Given the description of an element on the screen output the (x, y) to click on. 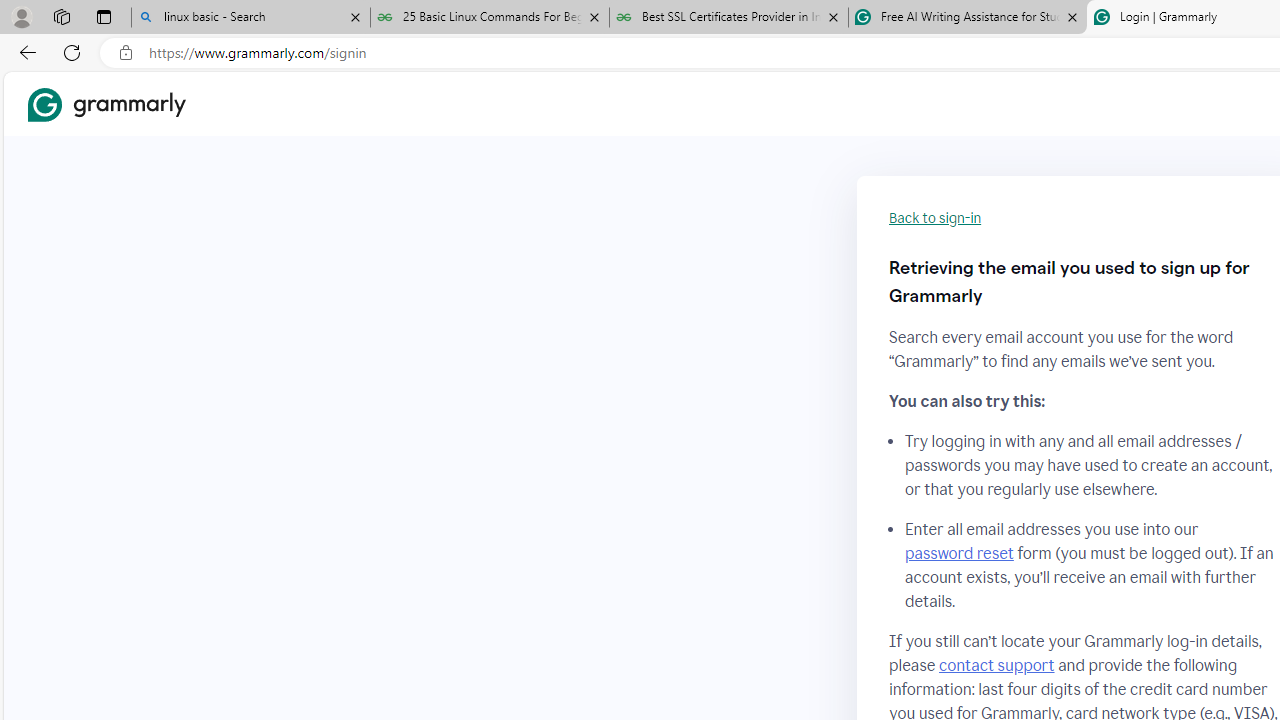
Grammarly Home (106, 103)
Best SSL Certificates Provider in India - GeeksforGeeks (729, 17)
Grammarly Home (106, 104)
contact support (996, 665)
Back to sign-in (935, 218)
password reset (958, 553)
25 Basic Linux Commands For Beginners - GeeksforGeeks (490, 17)
Free AI Writing Assistance for Students | Grammarly (967, 17)
